Given the description of an element on the screen output the (x, y) to click on. 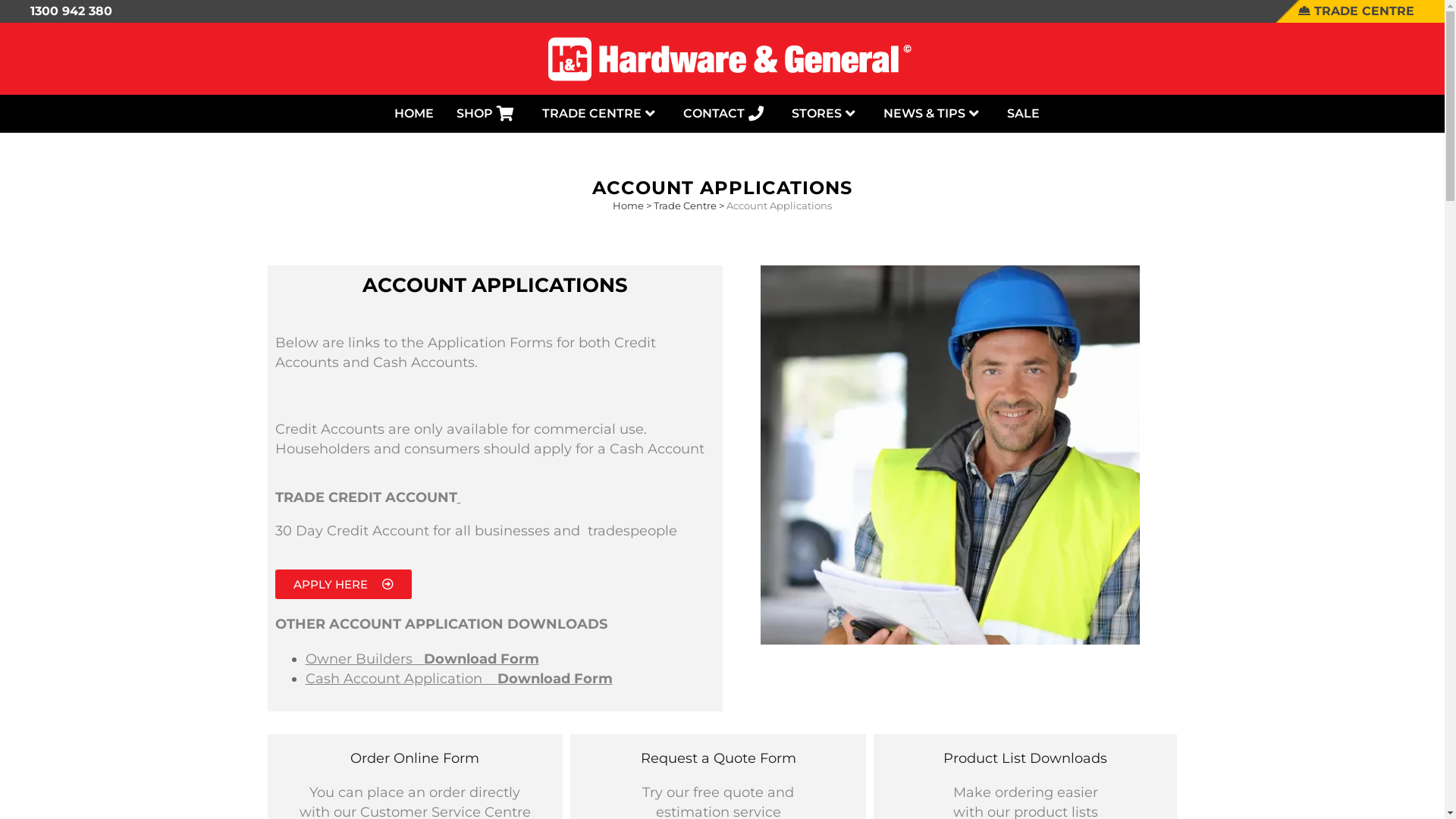
Owner Builders   Download Form Element type: text (421, 658)
TRADE CENTRE Element type: text (600, 113)
Cash Account Application    Download Form Element type: text (457, 678)
1300 942 380 Element type: text (71, 10)
CONTACT Element type: text (725, 113)
Trade Centre Element type: text (684, 205)
TRADE CENTRE Element type: text (1356, 10)
shutterstock_111839546 Element type: hover (949, 454)
SALE Element type: text (1022, 113)
NEWS & TIPS Element type: text (933, 113)
HOME Element type: text (413, 113)
SHOP Element type: text (487, 113)
Home Element type: text (627, 205)
  Element type: text (458, 496)
APPLY HERE Element type: text (342, 583)
STORES Element type: text (825, 113)
